Given the description of an element on the screen output the (x, y) to click on. 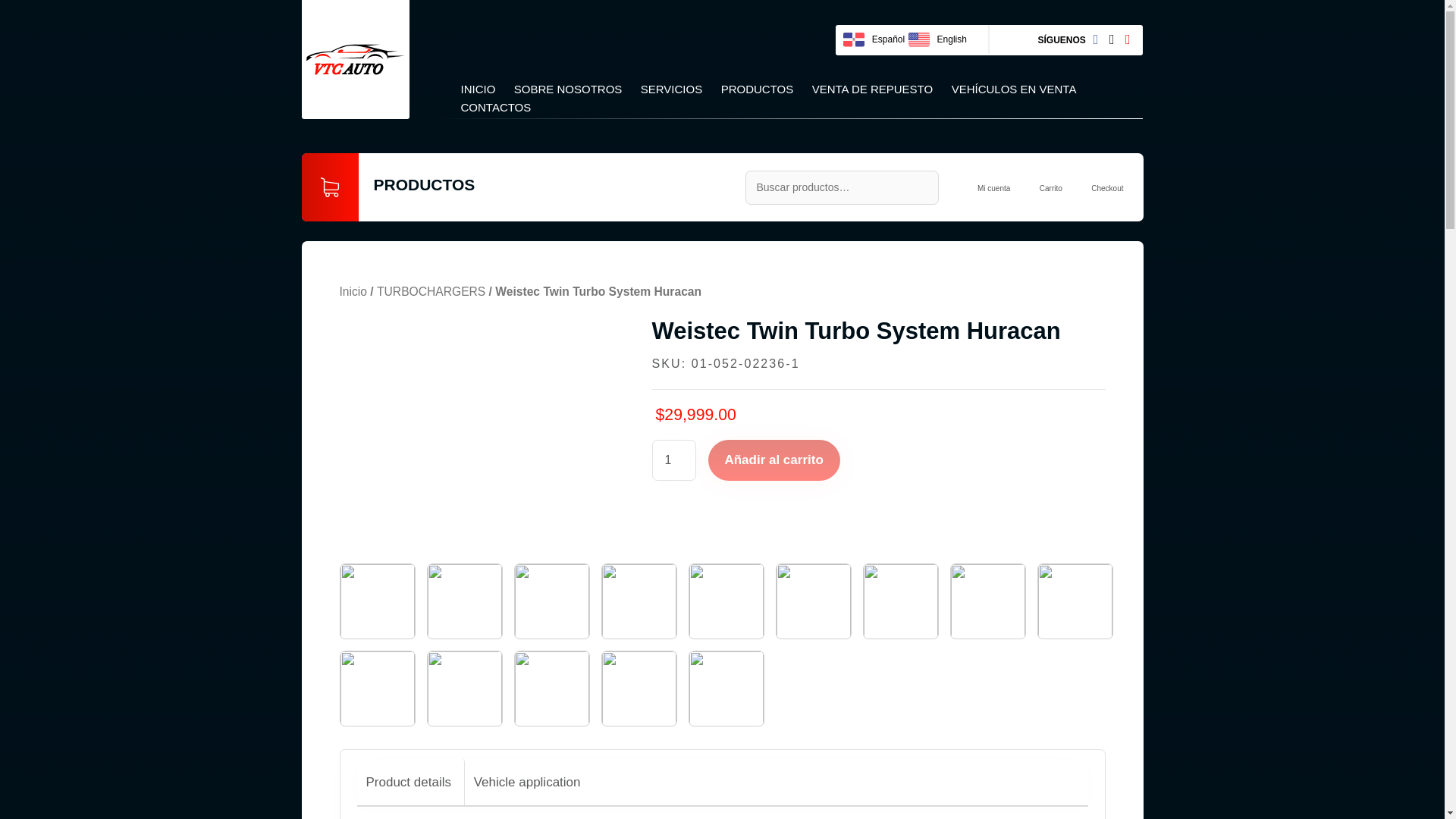
CONTACTOS (496, 107)
SOBRE NOSOTROS (568, 89)
PRODUCTOS (756, 89)
1 (673, 459)
Vehicle application (527, 782)
Product details (407, 782)
SERVICIOS (670, 89)
Inicio (352, 291)
English (939, 39)
Mi cuenta (993, 188)
